Given the description of an element on the screen output the (x, y) to click on. 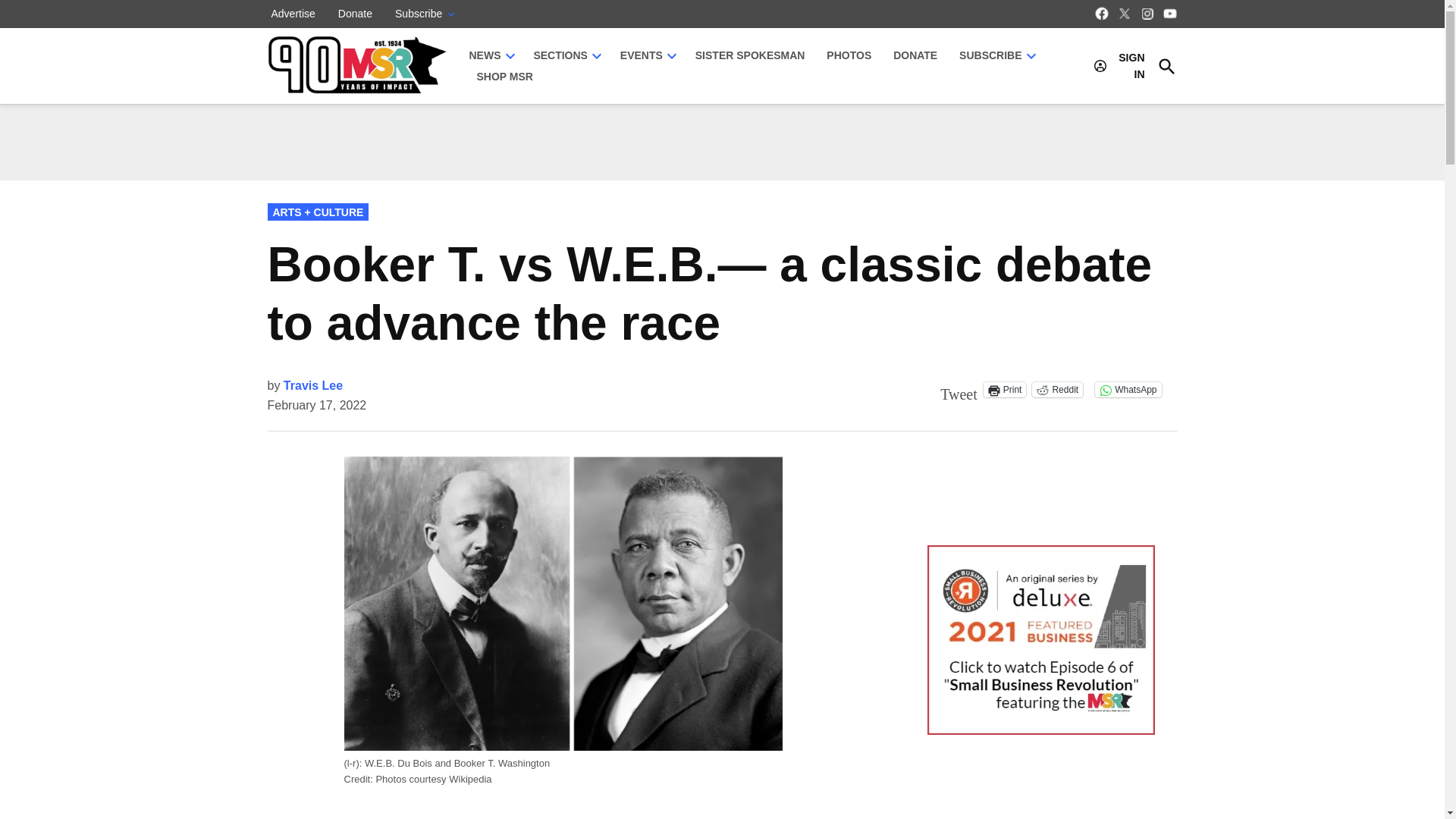
Click to share on Reddit (1057, 389)
Click to print (1005, 389)
Click to share on WhatsApp (1127, 389)
